Given the description of an element on the screen output the (x, y) to click on. 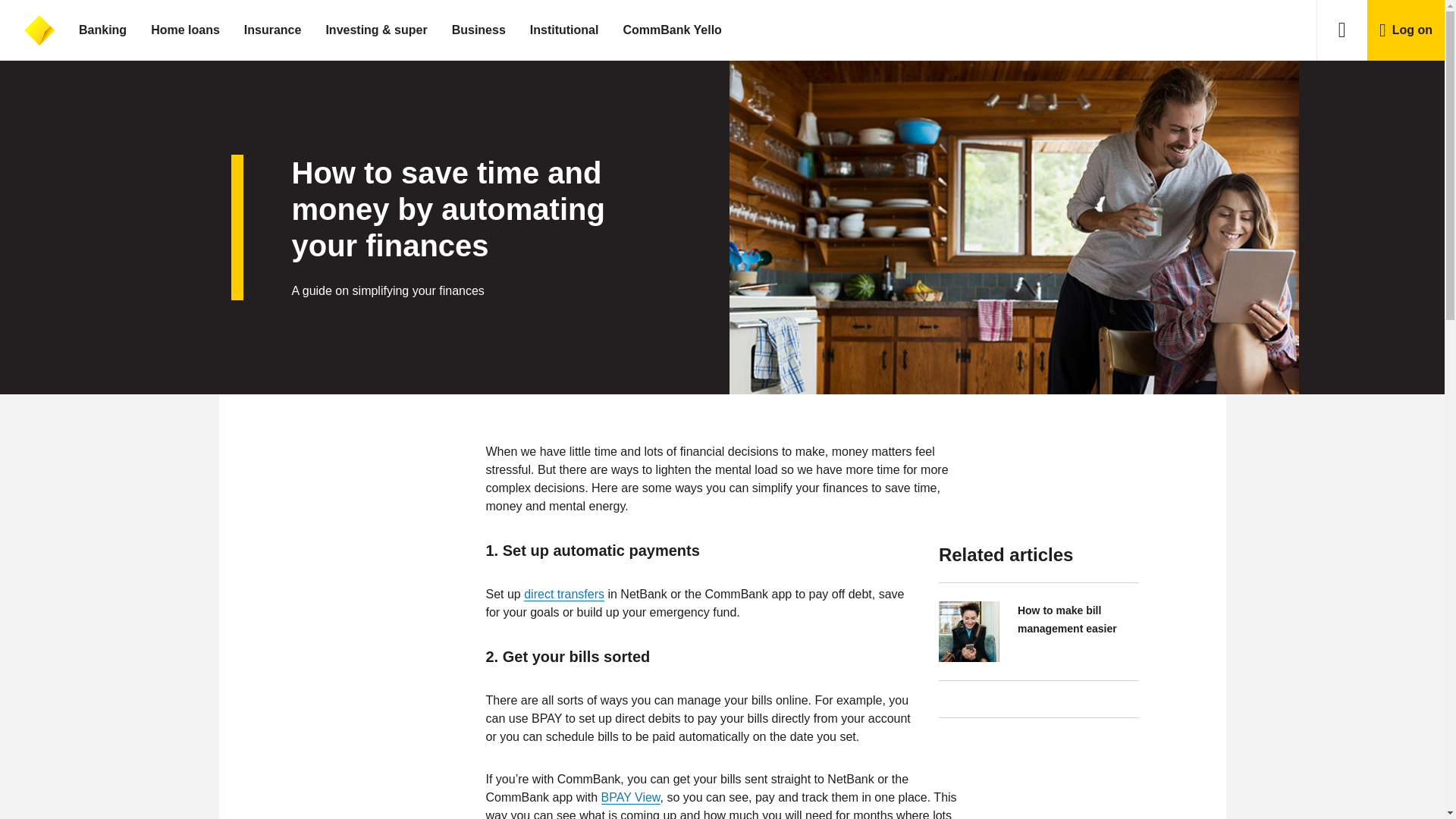
Insurance (272, 30)
CommBank Yello (671, 30)
Institutional (563, 30)
Home loans (185, 30)
